Given the description of an element on the screen output the (x, y) to click on. 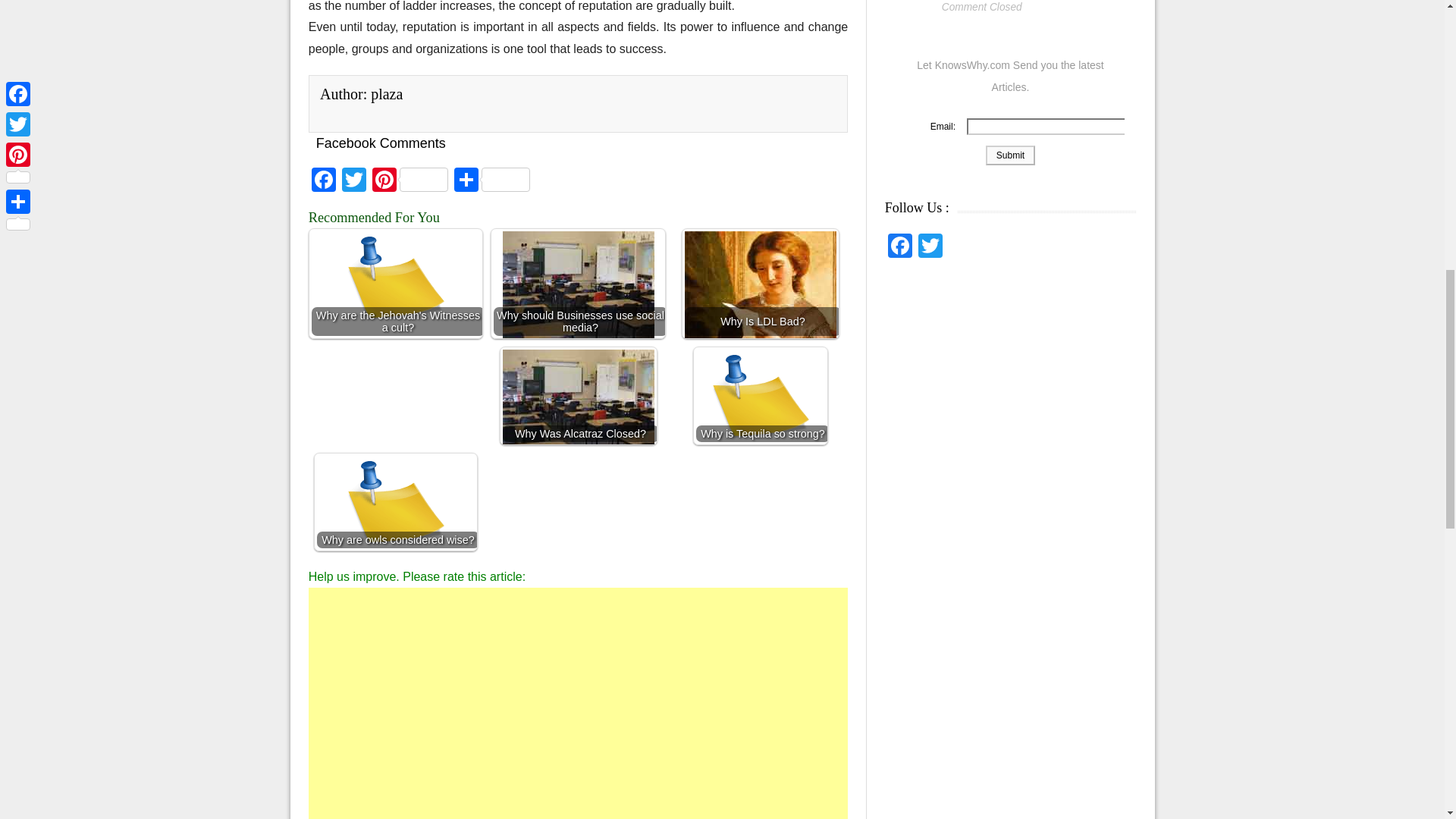
Twitter (354, 181)
Facebook (323, 181)
Why Is LDL Bad?  (759, 298)
Pinterest (410, 181)
Twitter (354, 181)
Facebook (323, 181)
Submit (1010, 155)
Why Was Alcatraz Closed? (578, 395)
Pinterest (410, 181)
Why are owls considered wise? (395, 512)
Advertisement (578, 703)
Why are the Jehovah's Witnesses a cult? (395, 283)
Why Is LDL Bad? (760, 283)
Why is Tequila so strong? (759, 406)
Why are owls considered wise? (395, 501)
